Given the description of an element on the screen output the (x, y) to click on. 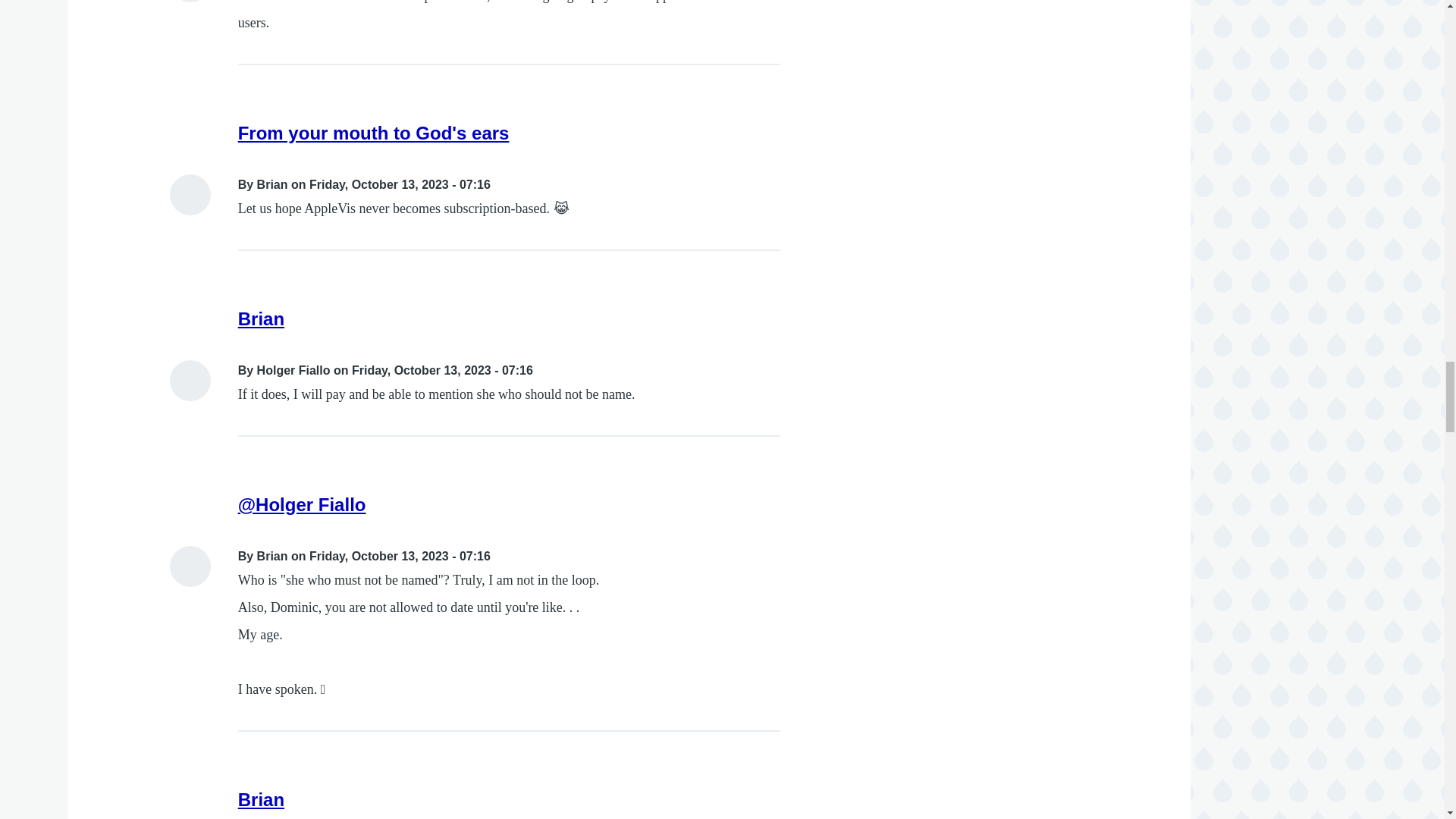
From your mouth to God's ears (373, 132)
Brian (260, 318)
Brian (260, 799)
